Given the description of an element on the screen output the (x, y) to click on. 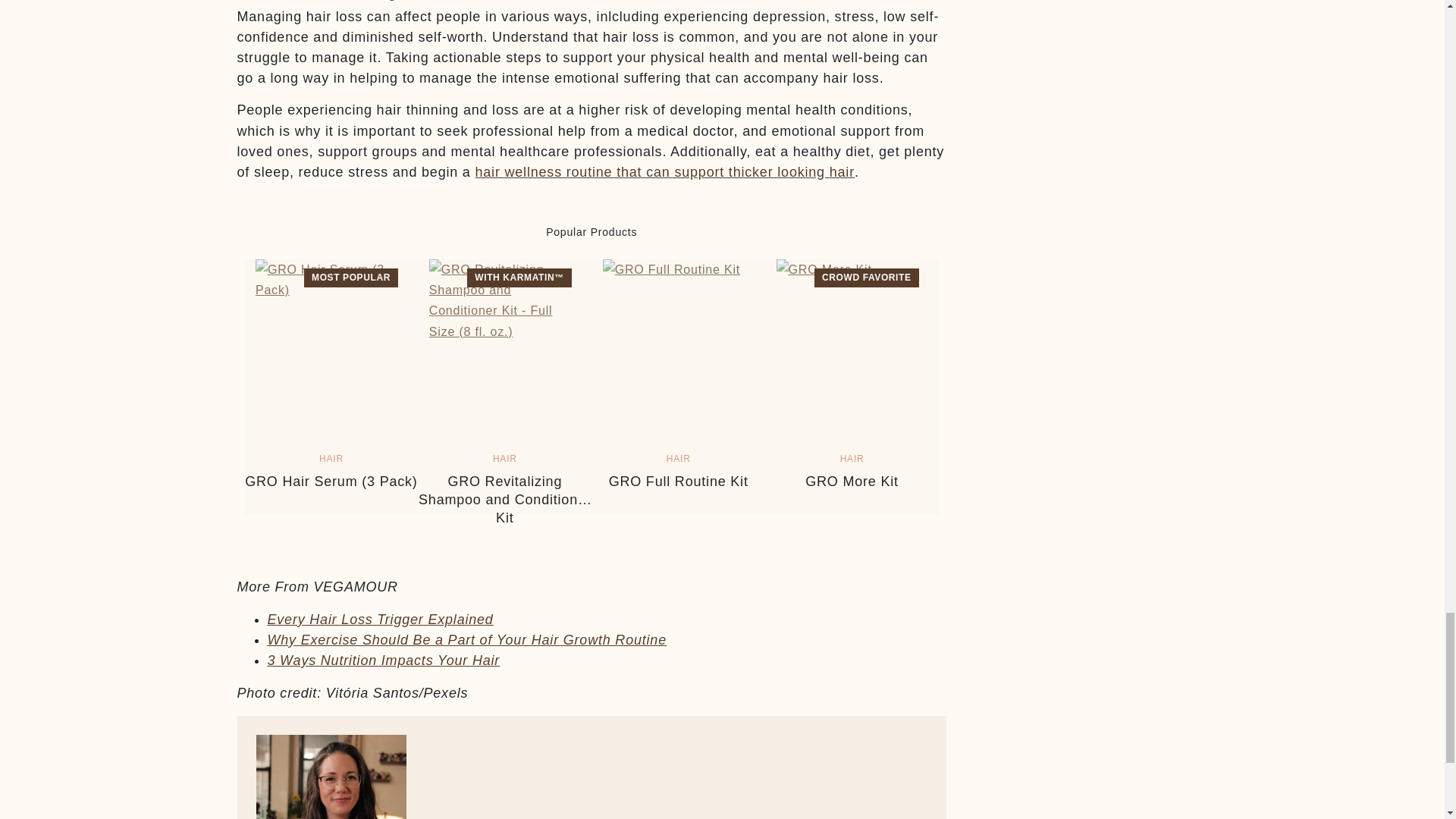
thicker hair (663, 171)
exercise hair loss (466, 639)
nutrition hair (382, 660)
what causes hair loss (379, 619)
